Given the description of an element on the screen output the (x, y) to click on. 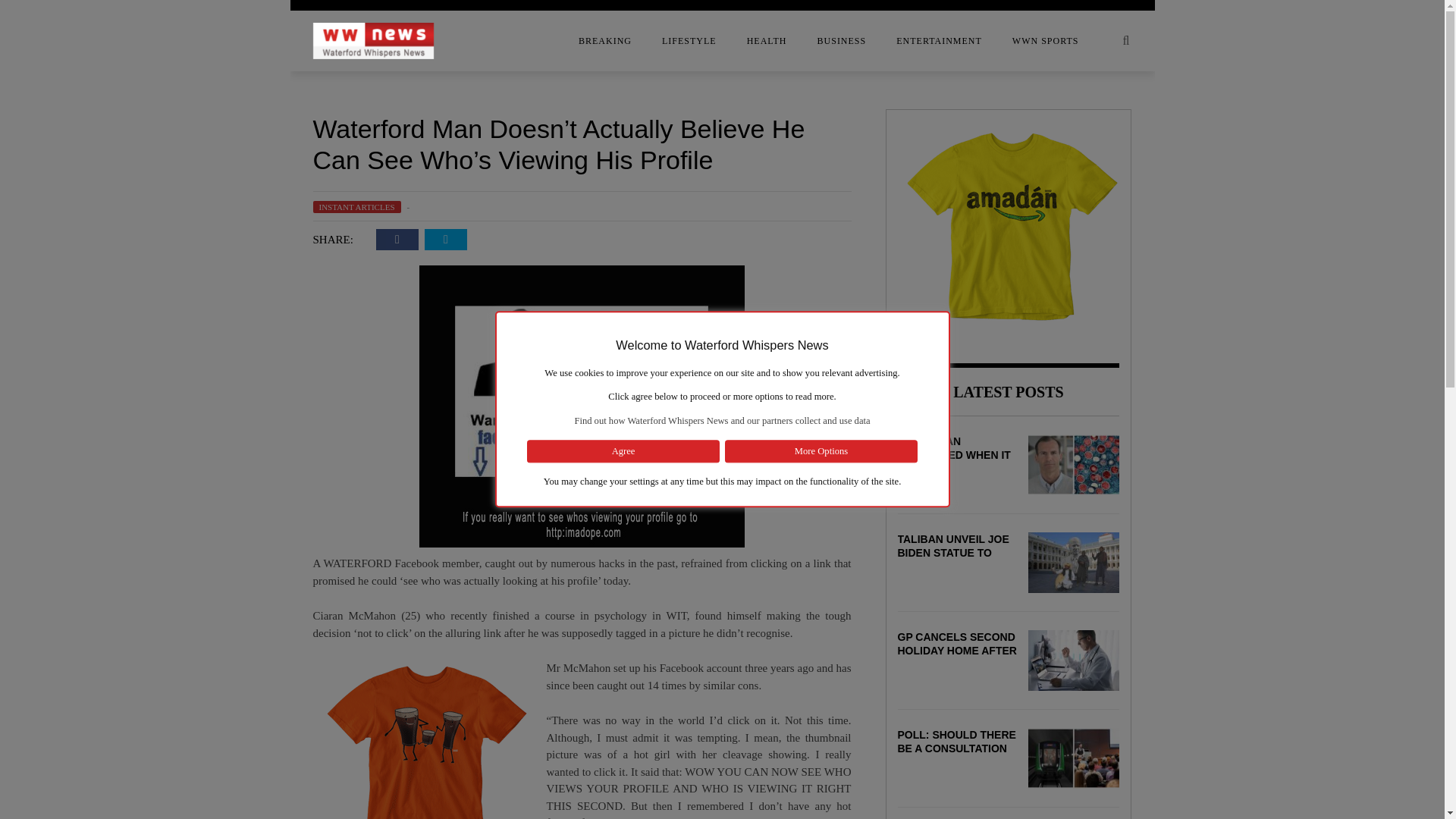
NEWSLETTER SIGN UP FORM (191, 207)
DISCLAIMER (191, 146)
YOUR PRIVACY SETTINGS (191, 268)
BREAKING (604, 40)
CONTACT US (191, 116)
COMPETITION RULES (191, 86)
PRIVACY (191, 237)
HOMEPAGE (191, 177)
